Given the description of an element on the screen output the (x, y) to click on. 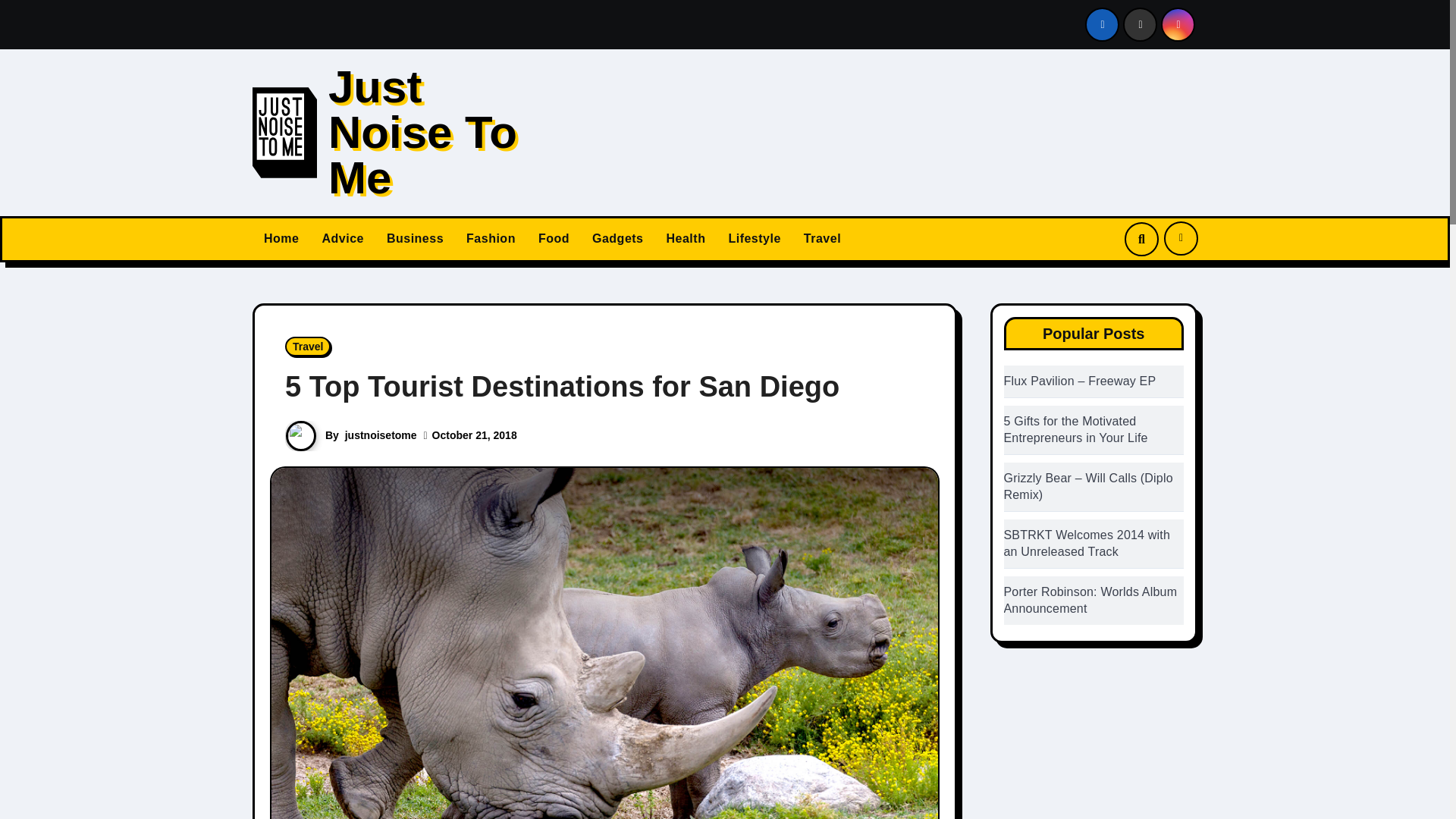
Gadgets (617, 239)
Advice (342, 239)
Home (280, 239)
Food (553, 239)
October 21, 2018 (474, 435)
Business (414, 239)
Lifestyle (754, 239)
Advice (342, 239)
Gadgets (617, 239)
Fashion (490, 239)
